Given the description of an element on the screen output the (x, y) to click on. 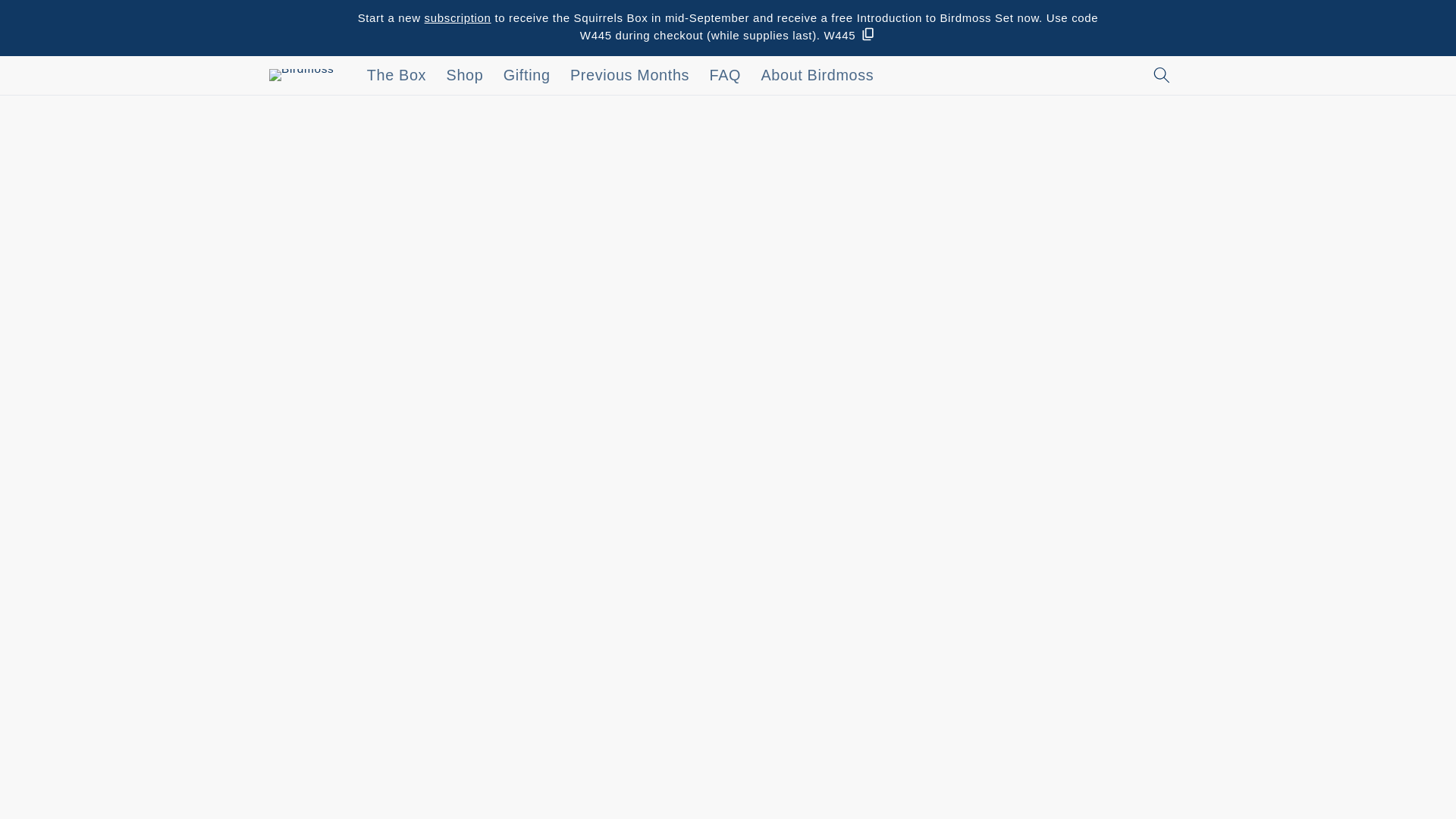
Birdmoss Box Monthly Subscription (458, 17)
FAQ (724, 75)
subscription (458, 17)
The Box (396, 75)
Previous Months (630, 75)
Gifting (526, 75)
About Birdmoss (817, 75)
Click to Copy to Clipboard (850, 32)
W445 (850, 32)
Skip to content (50, 19)
